Given the description of an element on the screen output the (x, y) to click on. 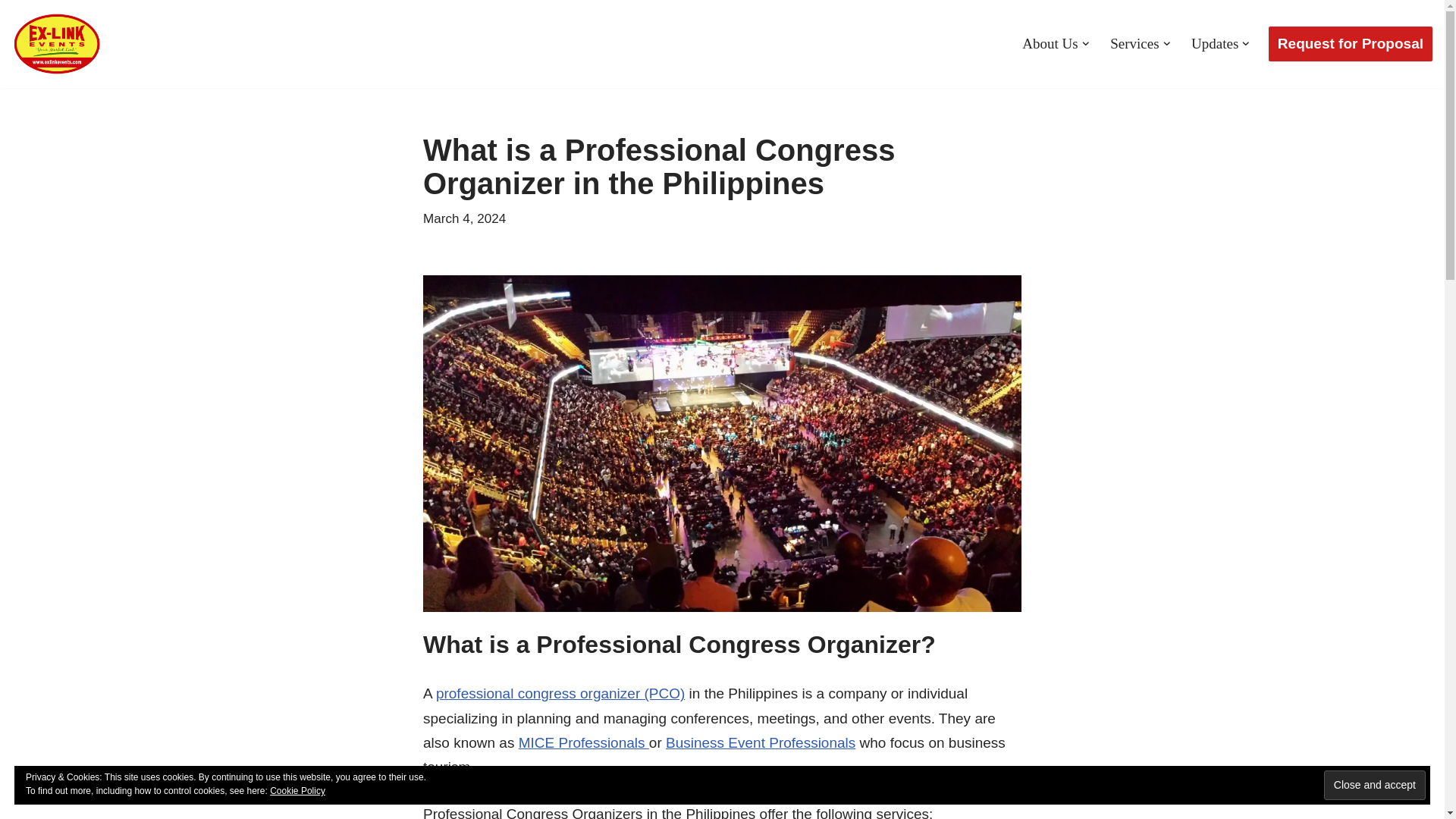
Request for Proposal (1350, 43)
Services (1133, 43)
Close and accept (1374, 785)
Skip to content (11, 31)
MICE Professionals (583, 742)
Updates (1215, 43)
Business Event Professionals (760, 742)
About Us (1049, 43)
